Given the description of an element on the screen output the (x, y) to click on. 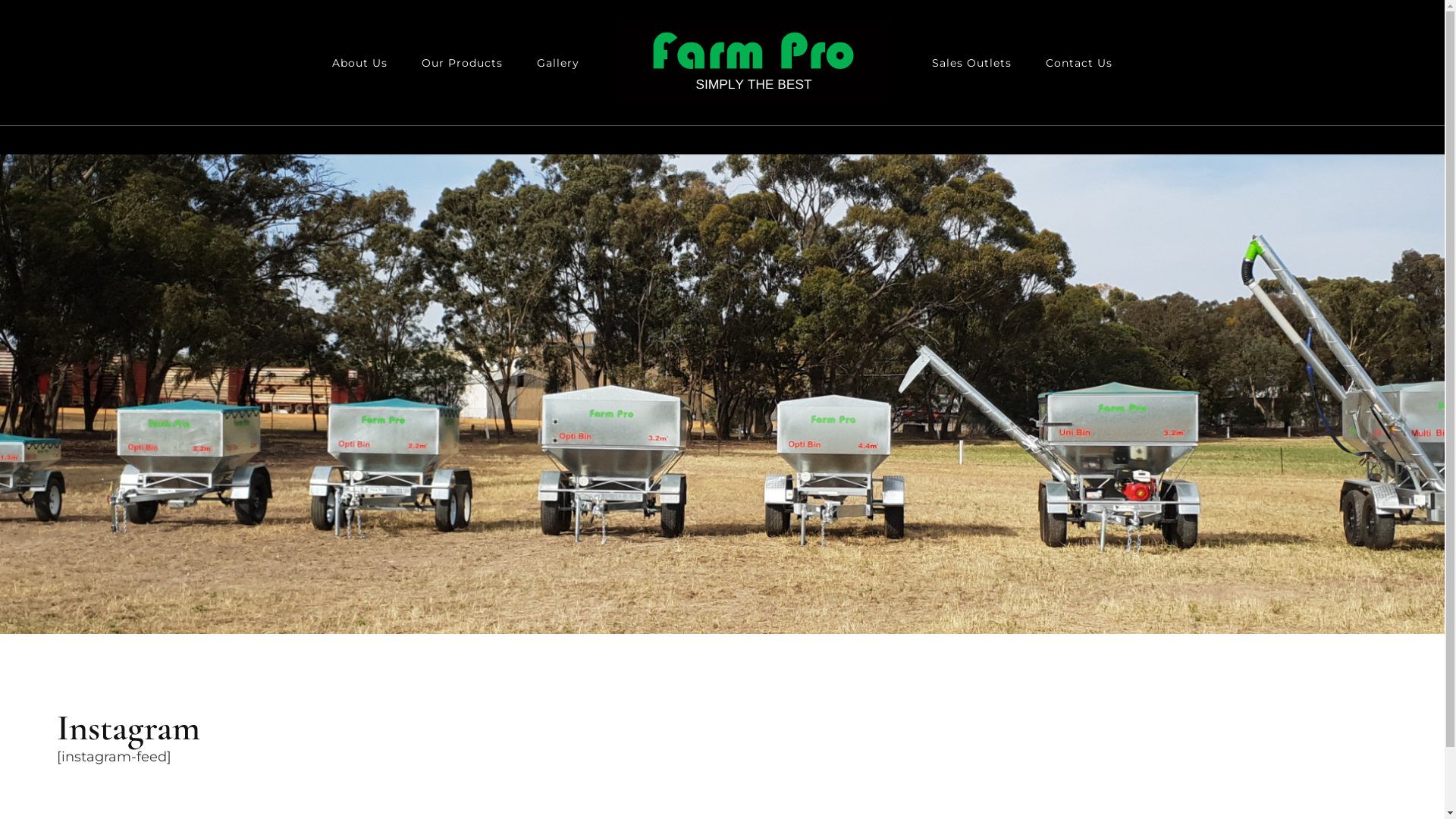
Farm Pro Element type: text (672, 118)
Contact Us Element type: text (1078, 63)
Gallery Element type: text (557, 63)
About Us Element type: text (359, 63)
Our Products Element type: text (461, 63)
Sales Outlets Element type: text (971, 63)
